Given the description of an element on the screen output the (x, y) to click on. 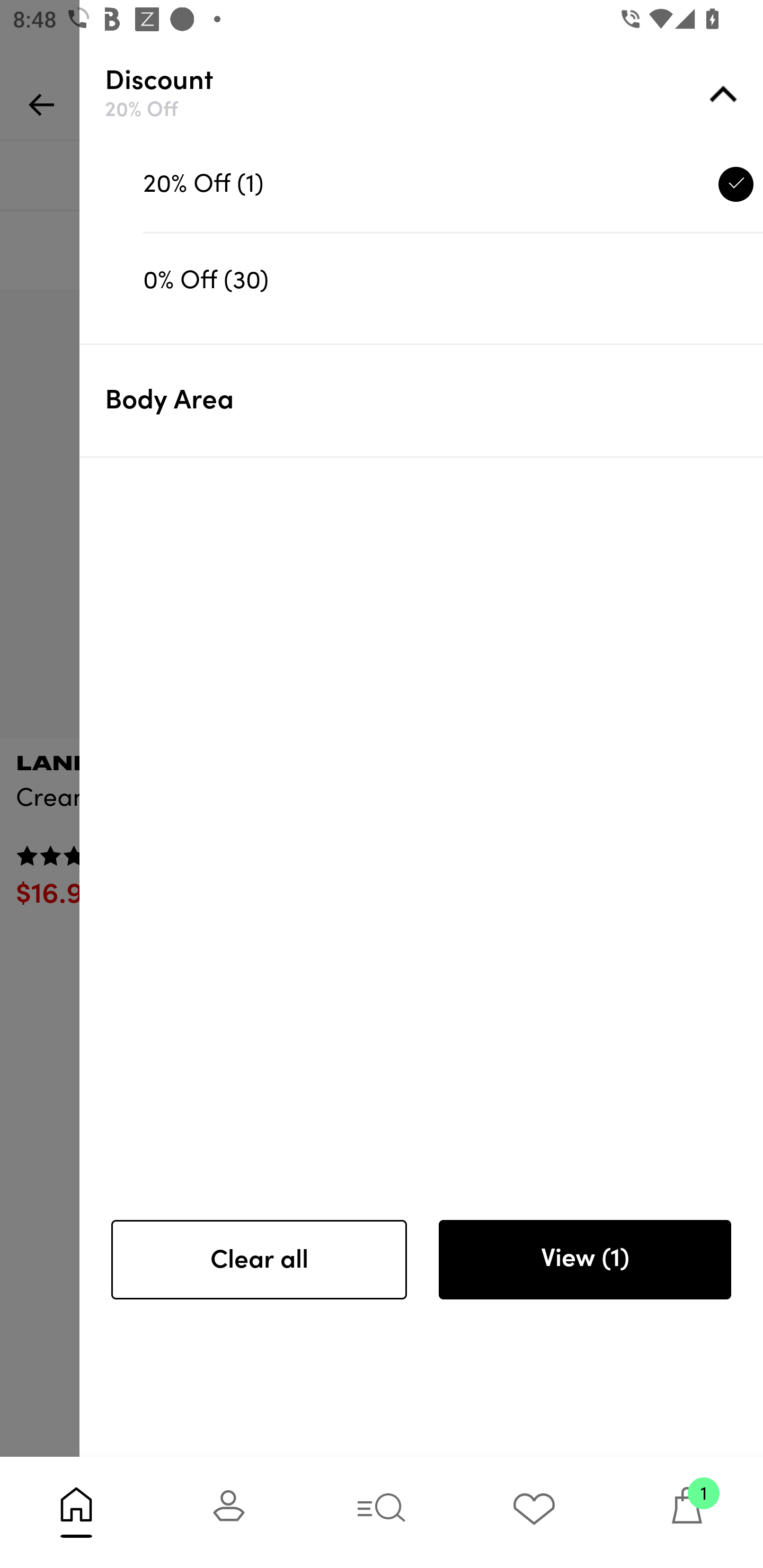
Discount 20% Off 20% Off (1)  0% Off (30) (434, 190)
20% Off (1)  (453, 184)
0% Off (30) (453, 279)
Body Area (434, 400)
Clear all (258, 1259)
View (1) (584, 1259)
1 (686, 1512)
